Given the description of an element on the screen output the (x, y) to click on. 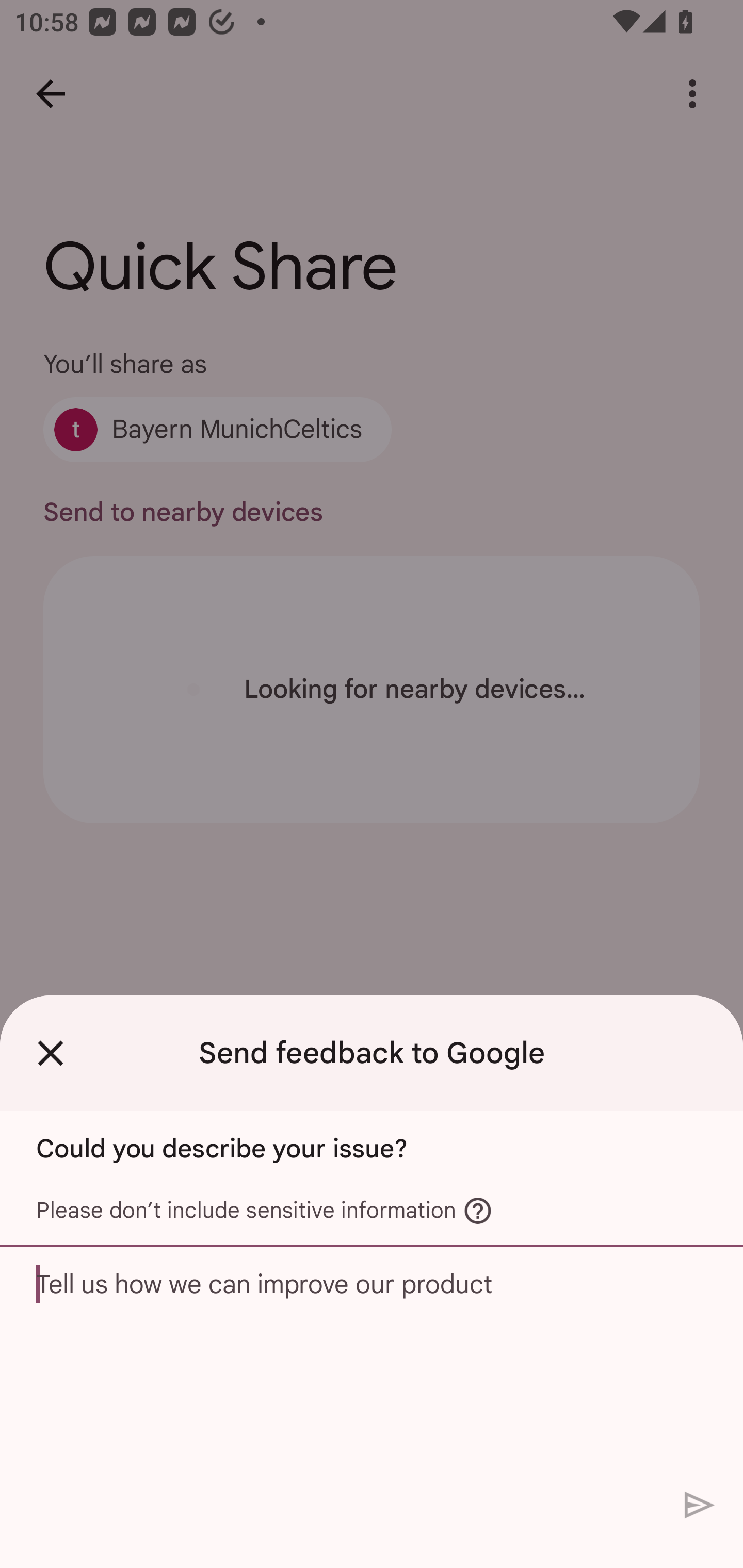
Close Feedback (50, 1052)
Tell us how we can improve our product (371, 1362)
Submit the feedback that you entered (699, 1504)
